Given the description of an element on the screen output the (x, y) to click on. 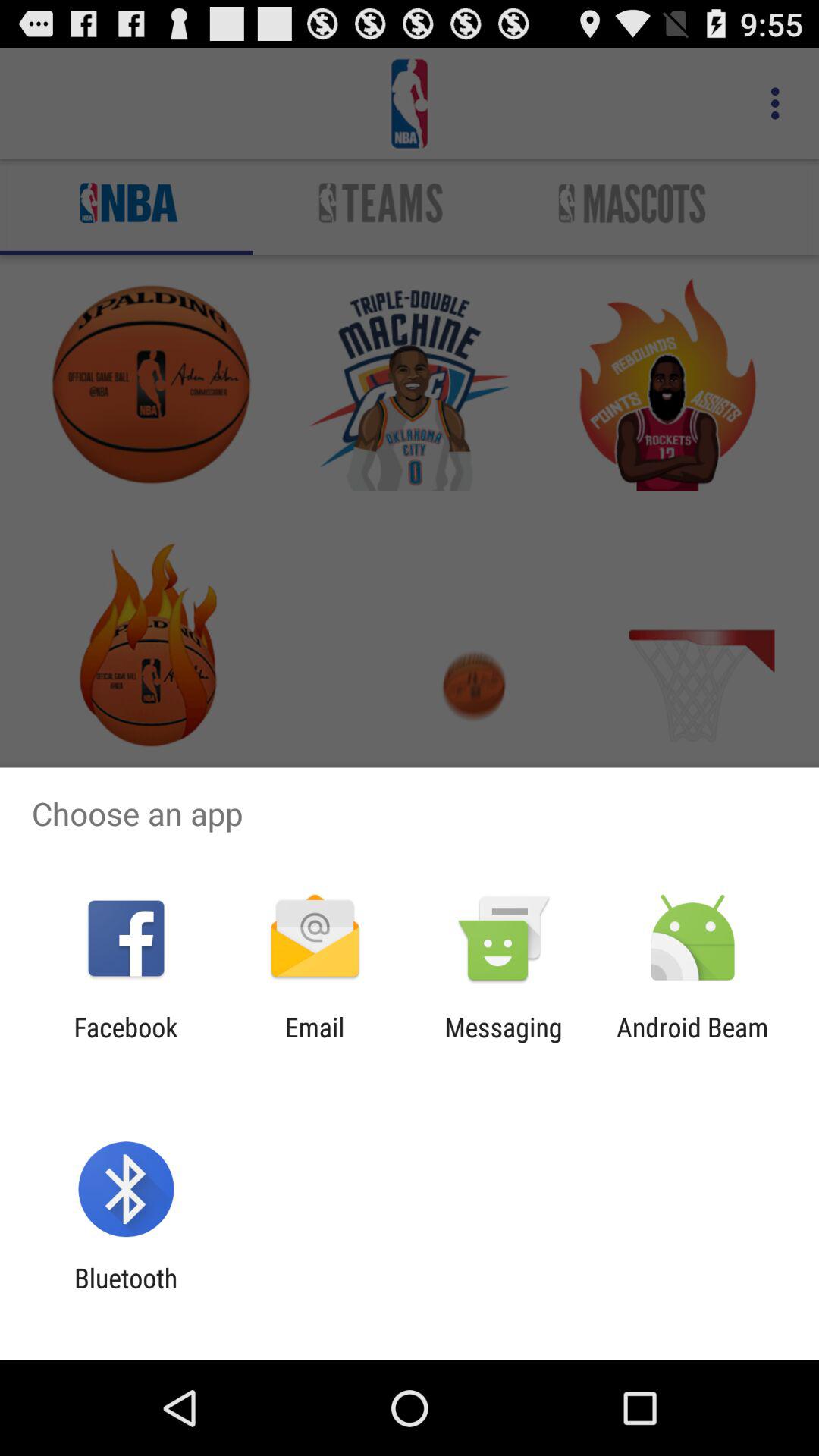
launch the android beam at the bottom right corner (692, 1042)
